Given the description of an element on the screen output the (x, y) to click on. 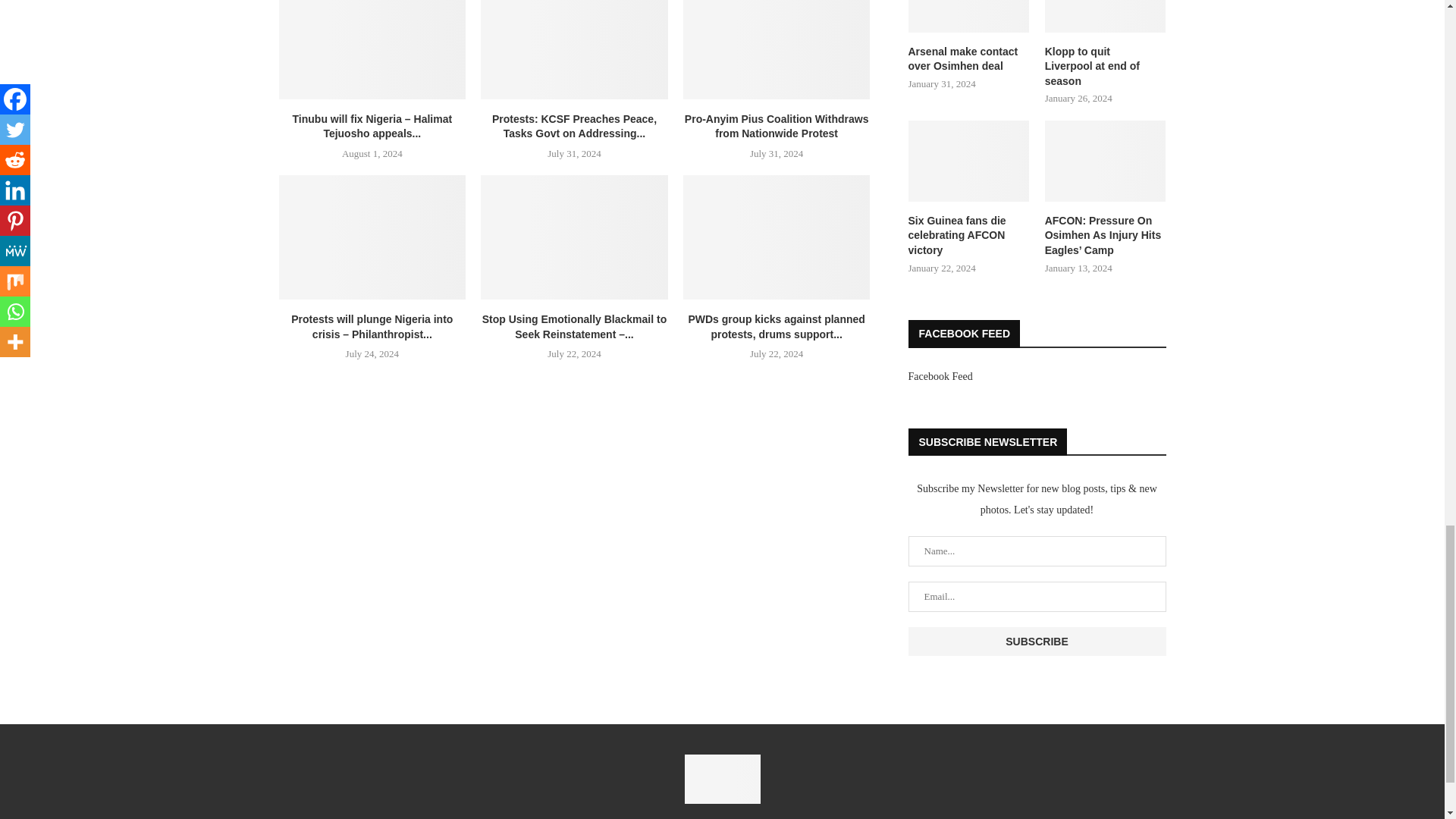
Subscribe (1037, 641)
